Given the description of an element on the screen output the (x, y) to click on. 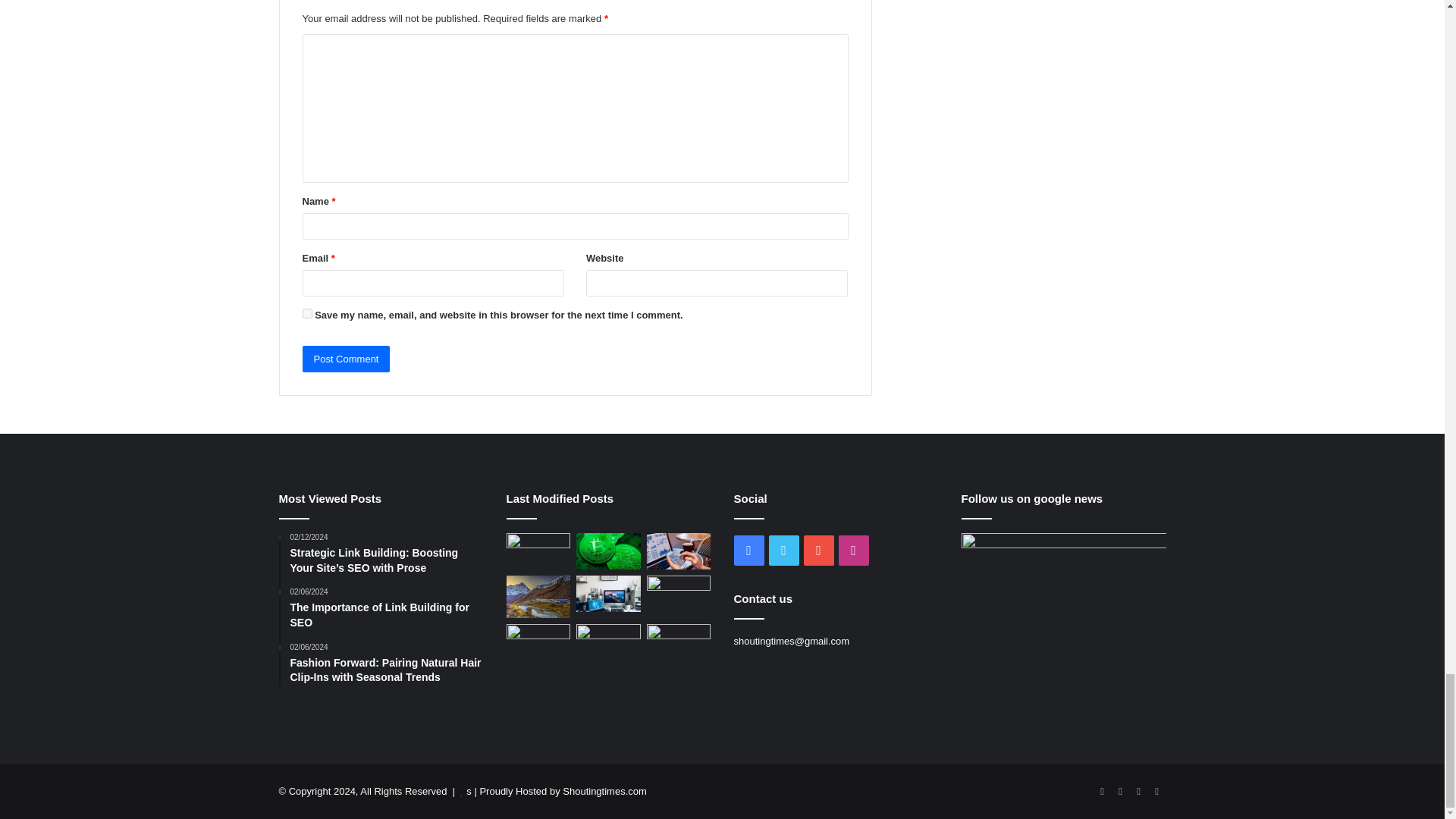
yes (306, 313)
Post Comment (345, 358)
